Given the description of an element on the screen output the (x, y) to click on. 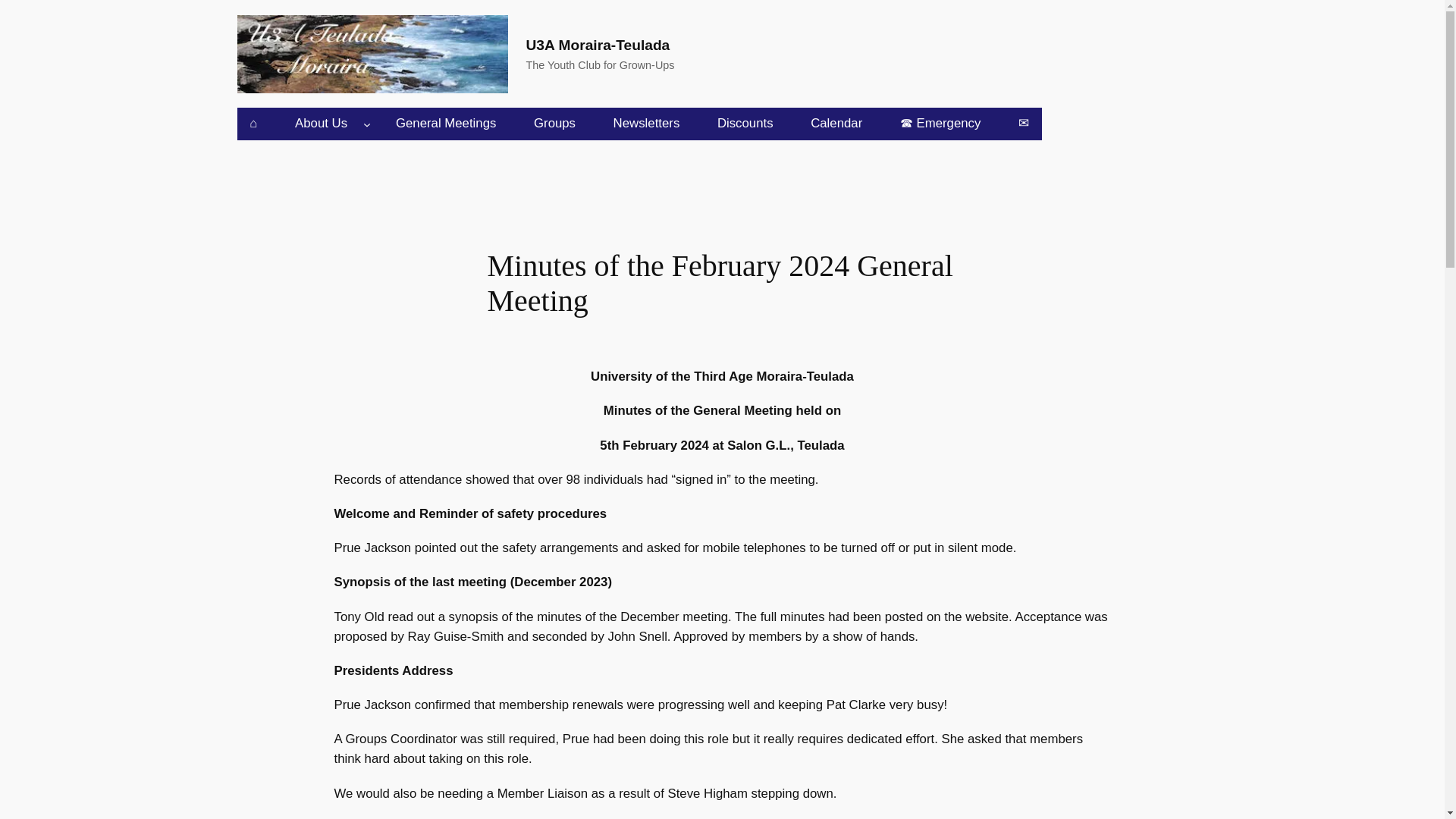
Discounts (745, 123)
About Us (320, 123)
General Meetings (445, 123)
Groups (554, 123)
Newsletters (646, 123)
U3A Moraira-Teulada (597, 44)
Calendar (836, 123)
